Given the description of an element on the screen output the (x, y) to click on. 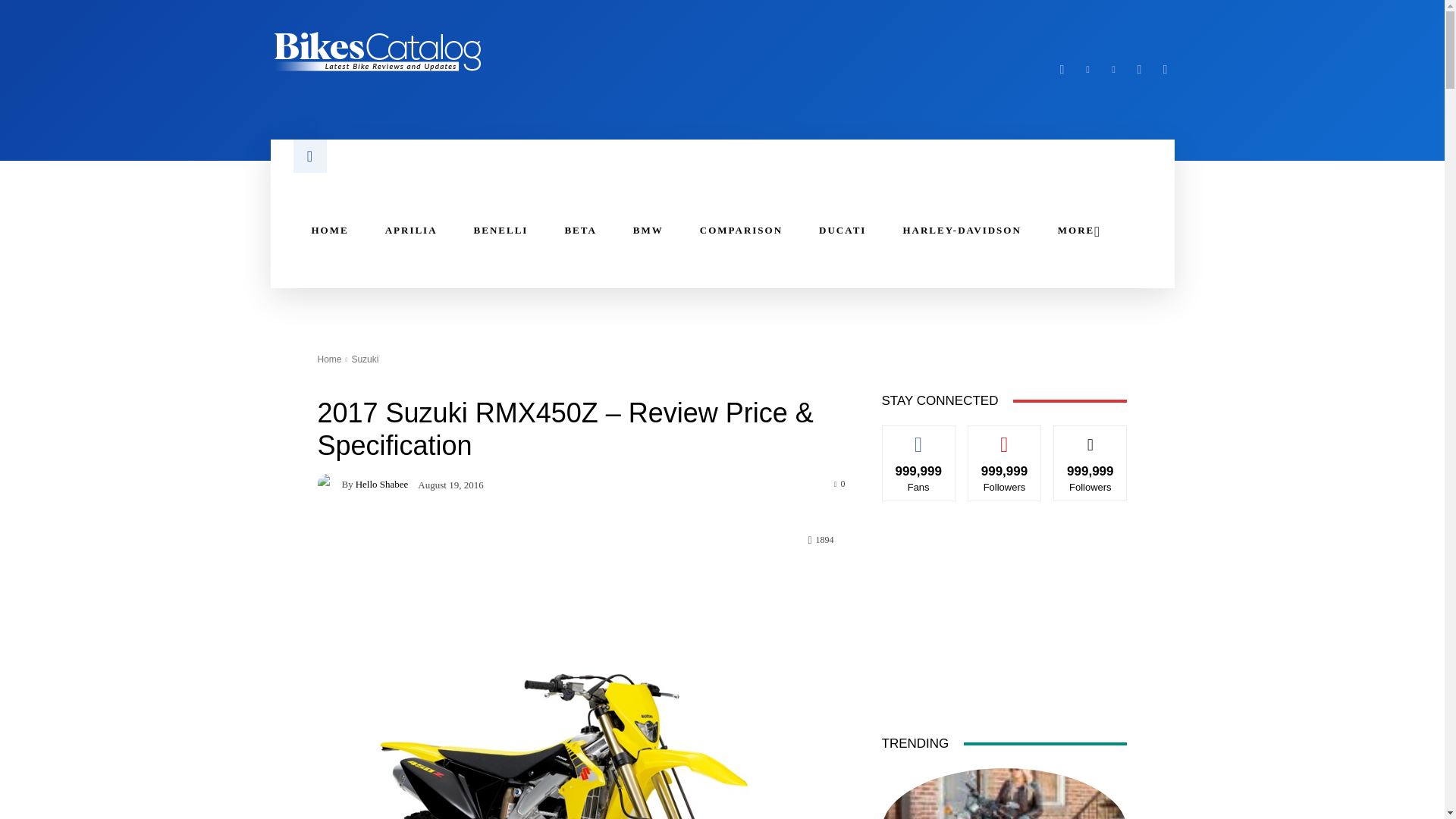
View all posts in Suzuki (364, 358)
Hello Shabee (328, 483)
Youtube (1164, 69)
Pinterest (1112, 69)
Facebook (1061, 69)
Linkedin (1087, 69)
Twitter (1138, 69)
